Given the description of an element on the screen output the (x, y) to click on. 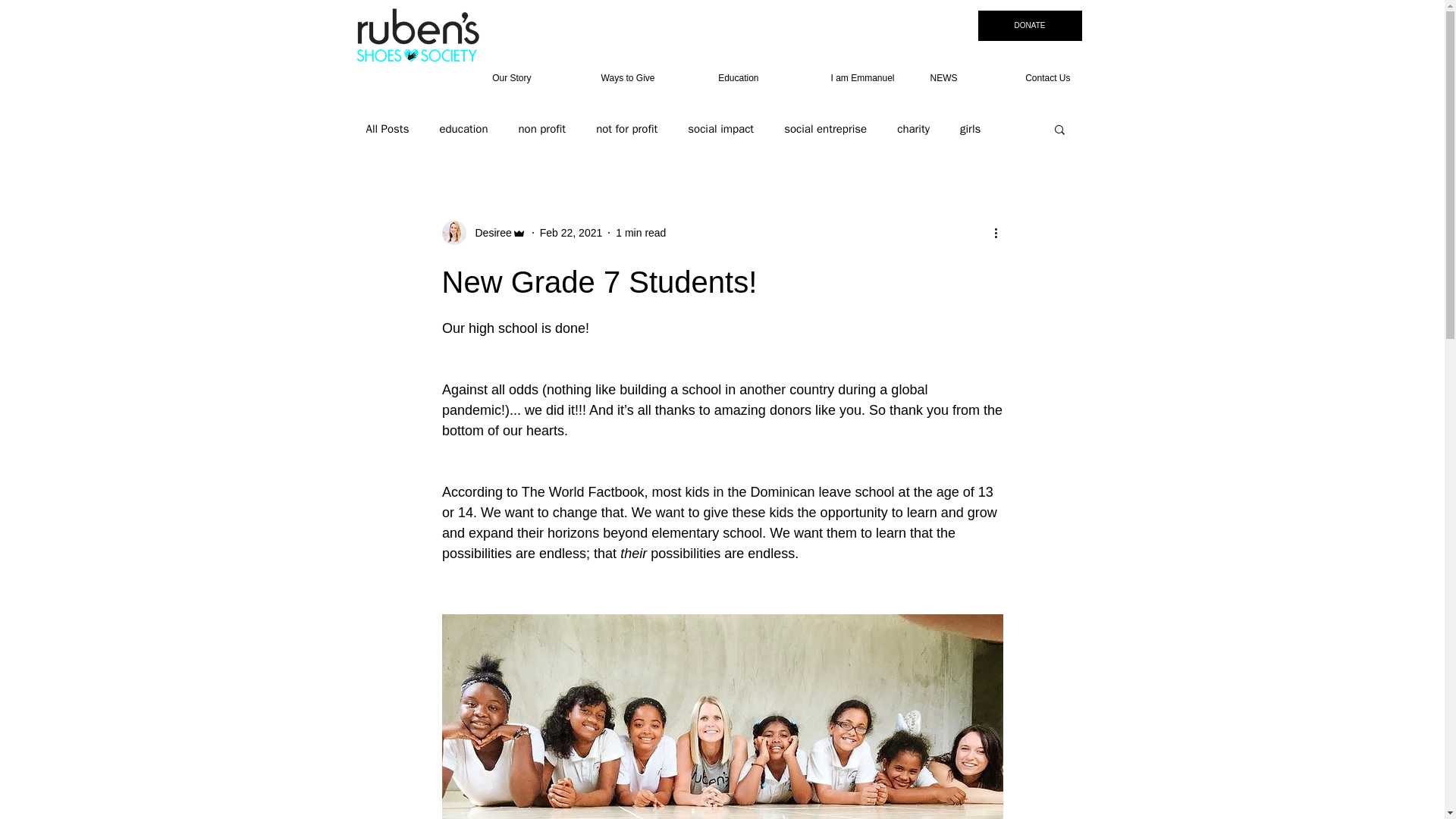
girls (969, 128)
Feb 22, 2021 (571, 232)
education (463, 128)
I am Emmanuel (837, 78)
social impact (720, 128)
Desiree (483, 232)
Our Story (490, 78)
Desiree (488, 232)
charity (913, 128)
not for profit (626, 128)
Contact Us (1025, 78)
Ways to Give (604, 78)
Education (717, 78)
DONATE (1029, 25)
1 min read (640, 232)
